Given the description of an element on the screen output the (x, y) to click on. 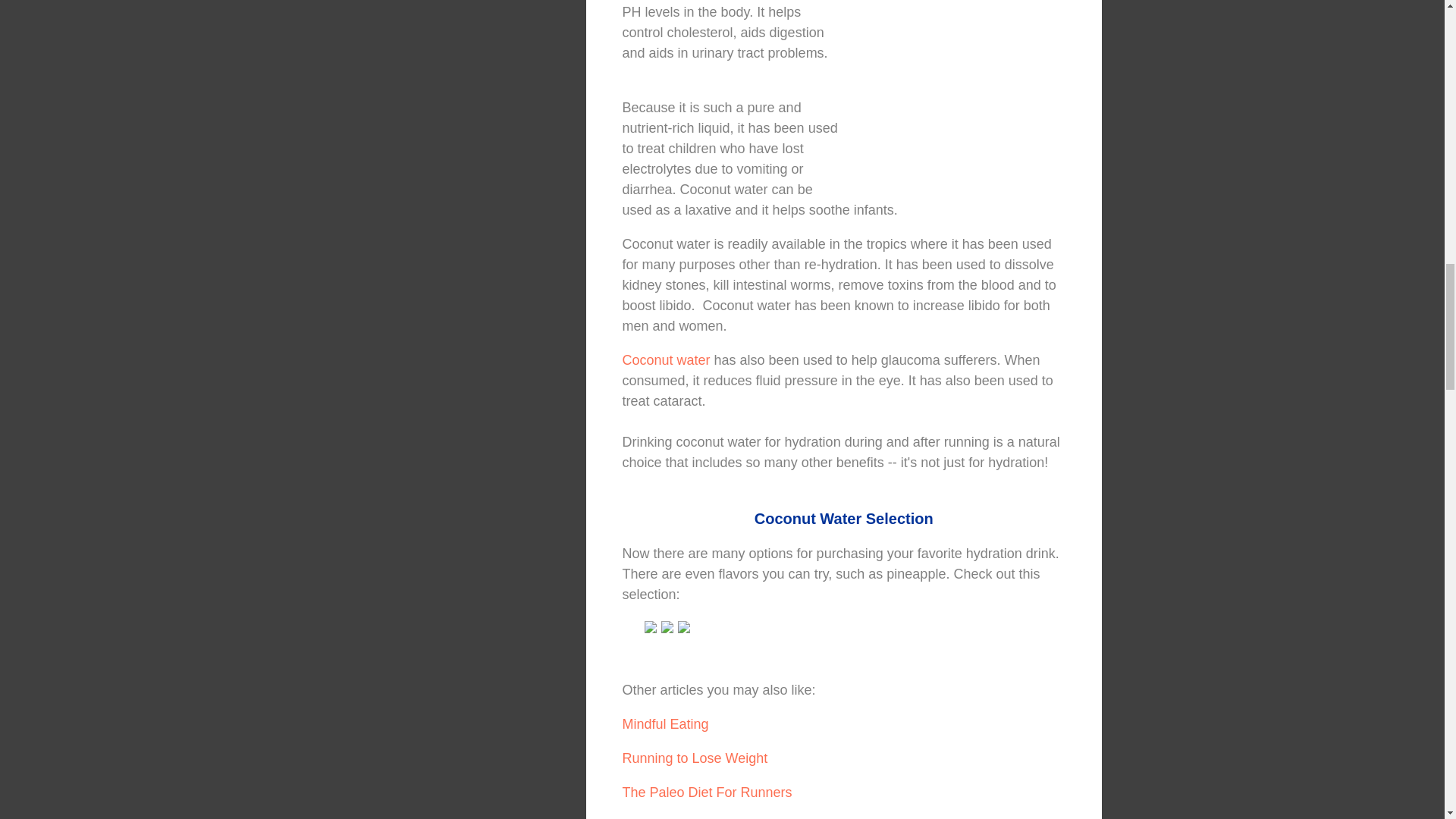
The Paleo Diet For Runners (706, 792)
Coconut Water Nutrient Values (957, 91)
Mindful Eating (664, 724)
Running to Lose Weight (694, 758)
Coconut water (667, 359)
